Given the description of an element on the screen output the (x, y) to click on. 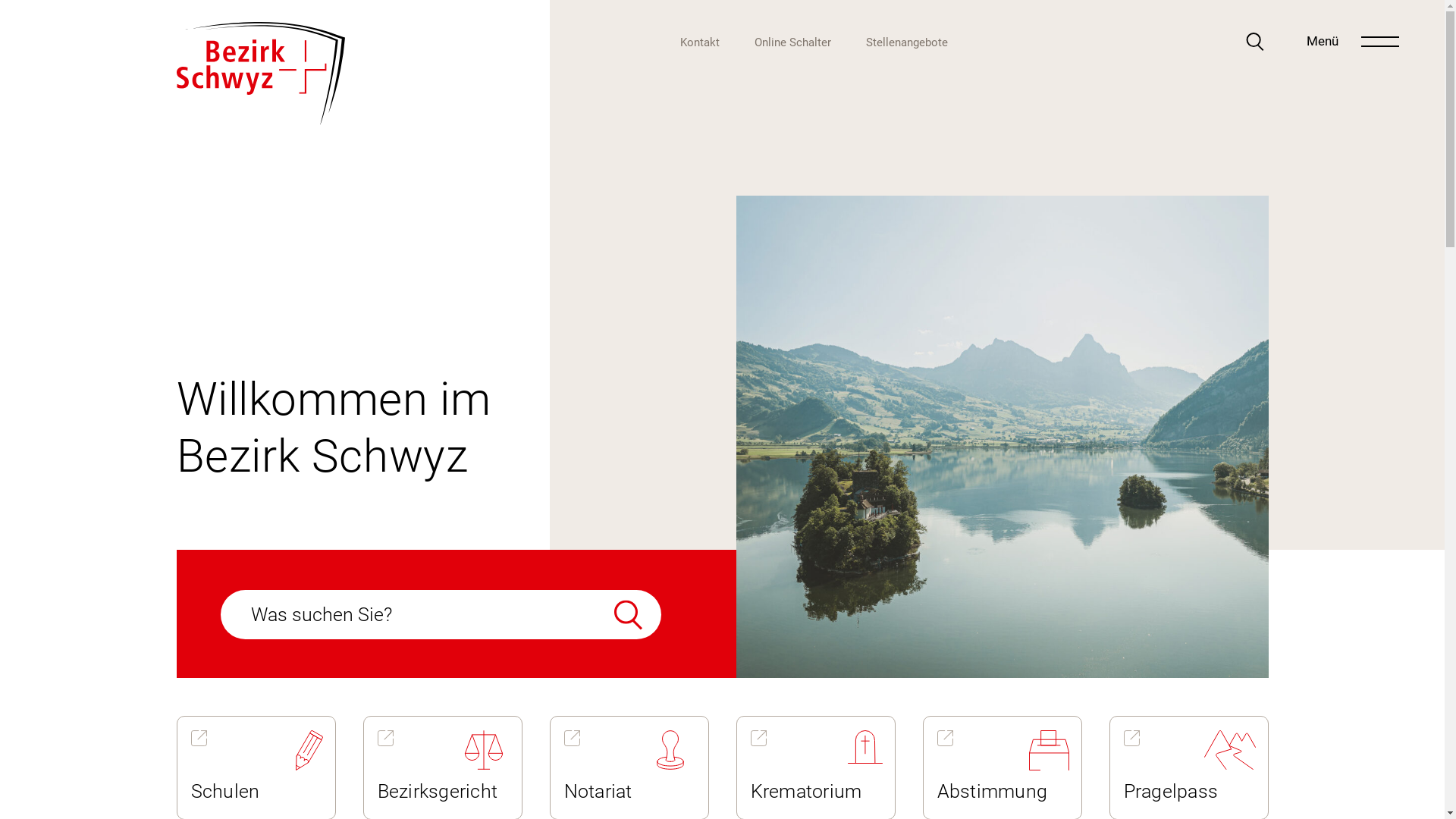
Kontakt Element type: text (699, 42)
Online Schalter Element type: text (792, 42)
Stellenangebote Element type: text (906, 42)
